Given the description of an element on the screen output the (x, y) to click on. 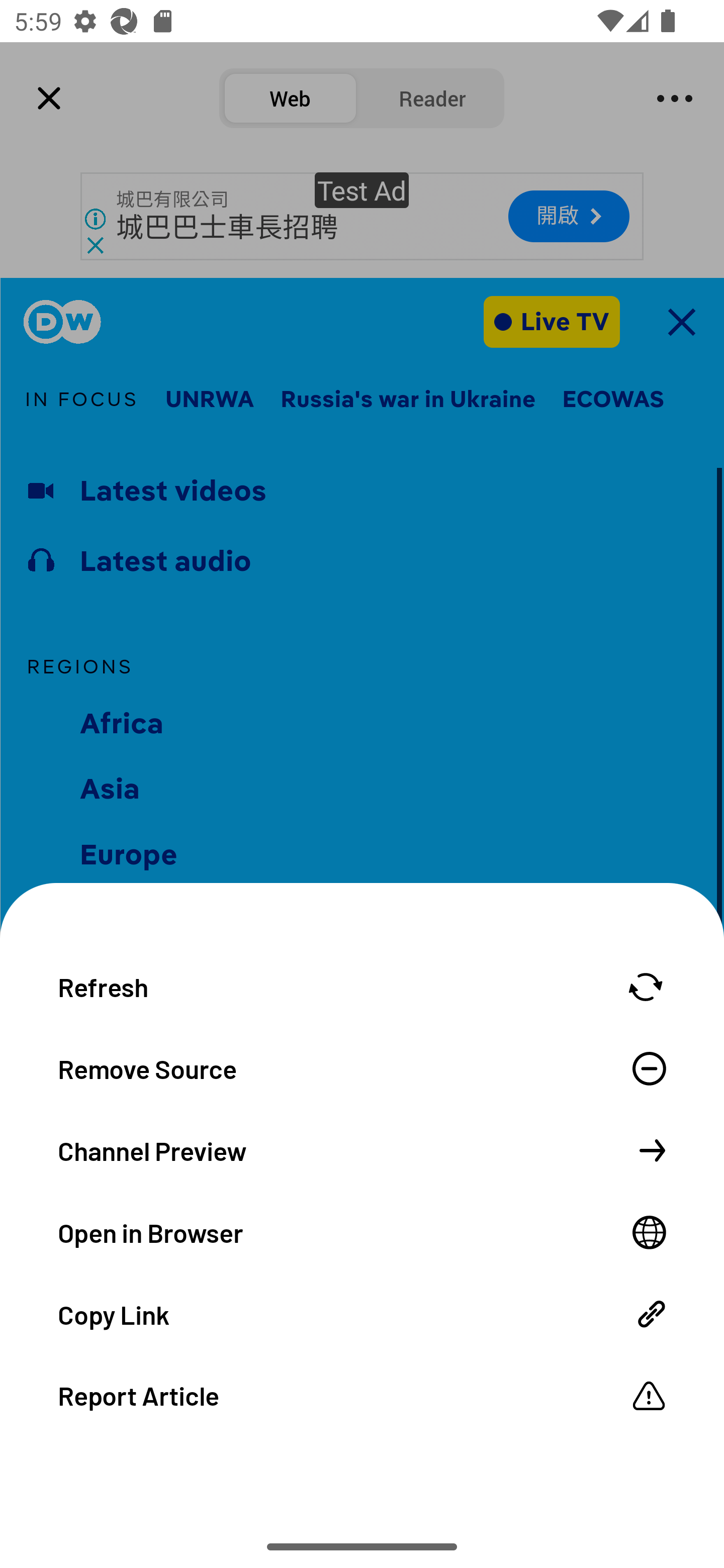
Refresh Menu Option (361, 986)
Remove Source Menu Option (361, 1067)
Channel Preview Menu Option (361, 1149)
Open in Browser Menu Option (361, 1231)
Copy Link Menu Option (361, 1313)
Report Article Menu Option (361, 1395)
